Given the description of an element on the screen output the (x, y) to click on. 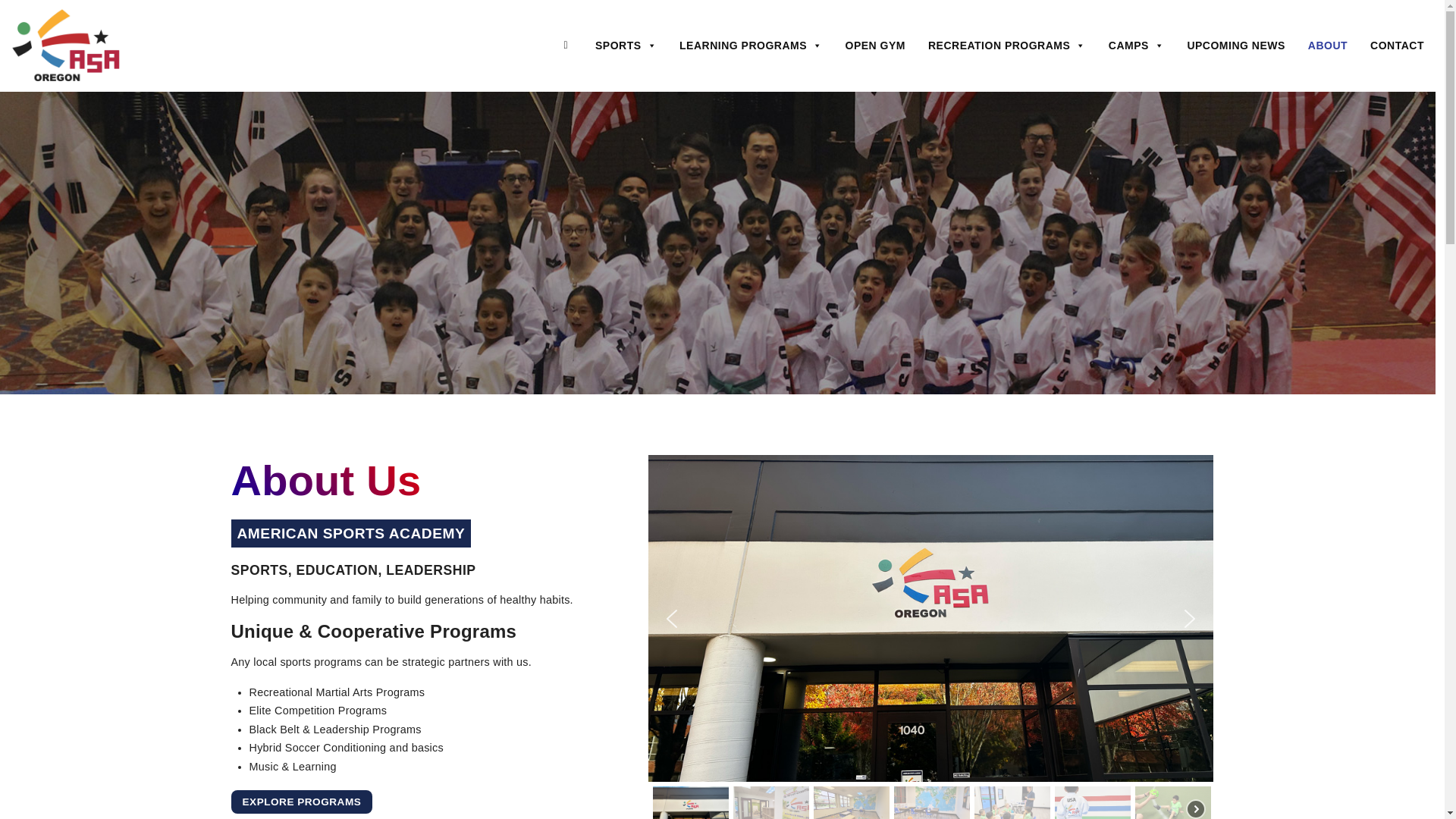
ABOUT (1327, 45)
EXPLORE PROGRAMS (301, 802)
UPCOMING NEWS (1234, 45)
CAMPS (1136, 45)
OPEN GYM (875, 45)
CONTACT (1396, 45)
LEARNING PROGRAMS (750, 45)
RECREATION PROGRAMS (1007, 45)
SPORTS (625, 45)
